Given the description of an element on the screen output the (x, y) to click on. 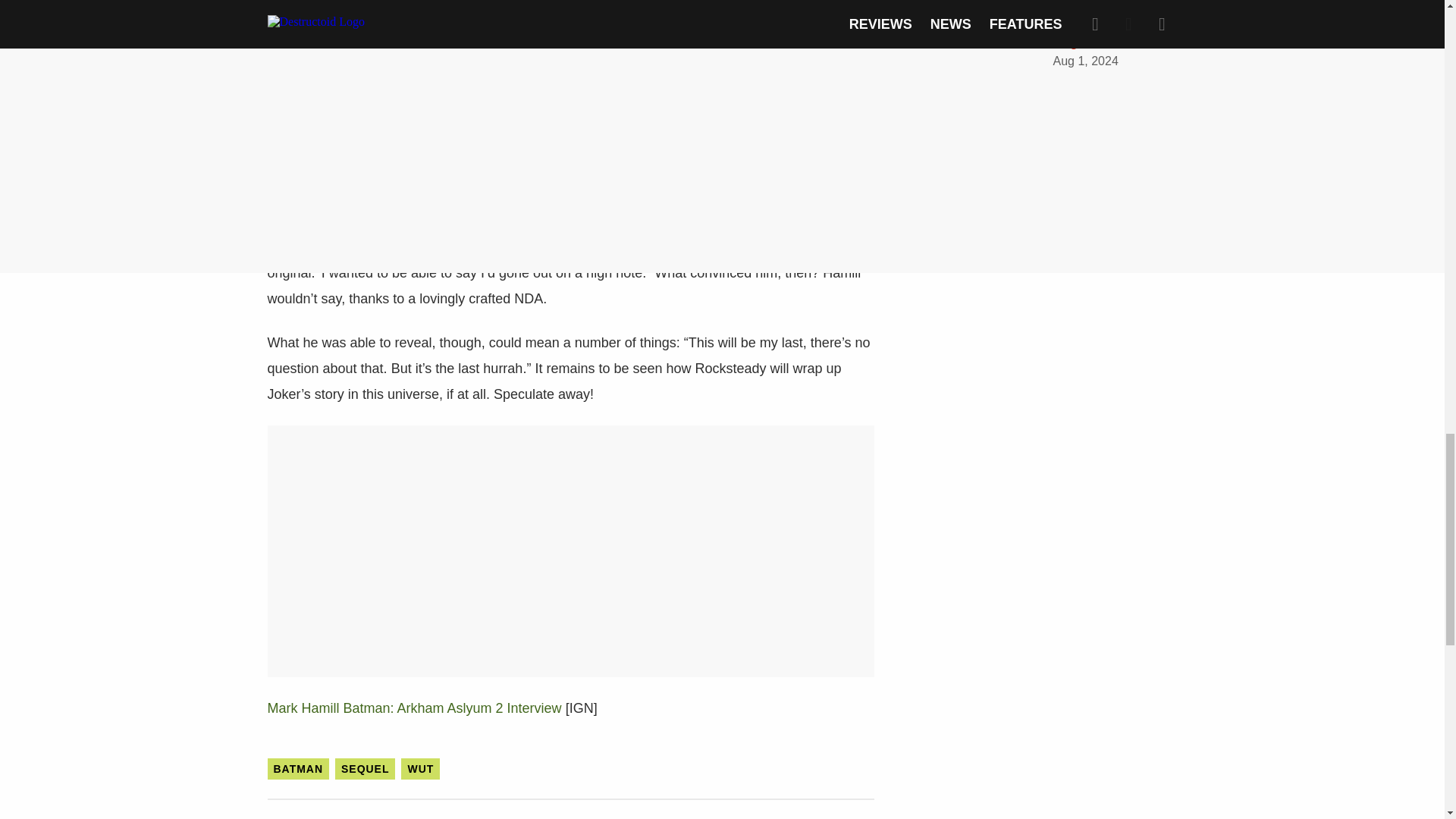
Mark Hamill Batman: Arkham Aslyum 2 Interview (413, 708)
